Given the description of an element on the screen output the (x, y) to click on. 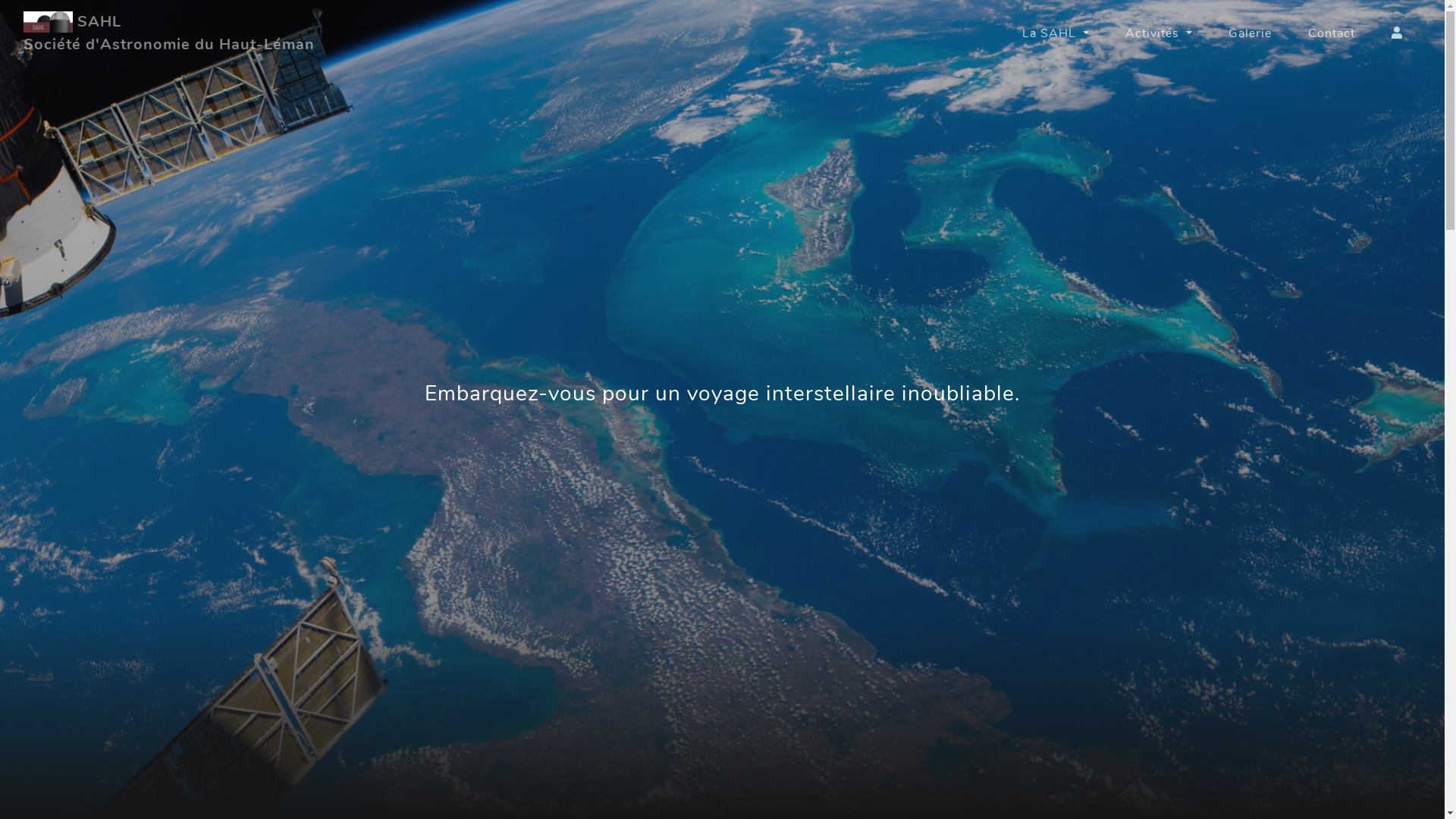
Galerie Element type: text (1249, 33)
La SAHL Element type: text (1055, 33)
Contact Element type: text (1331, 33)
